Given the description of an element on the screen output the (x, y) to click on. 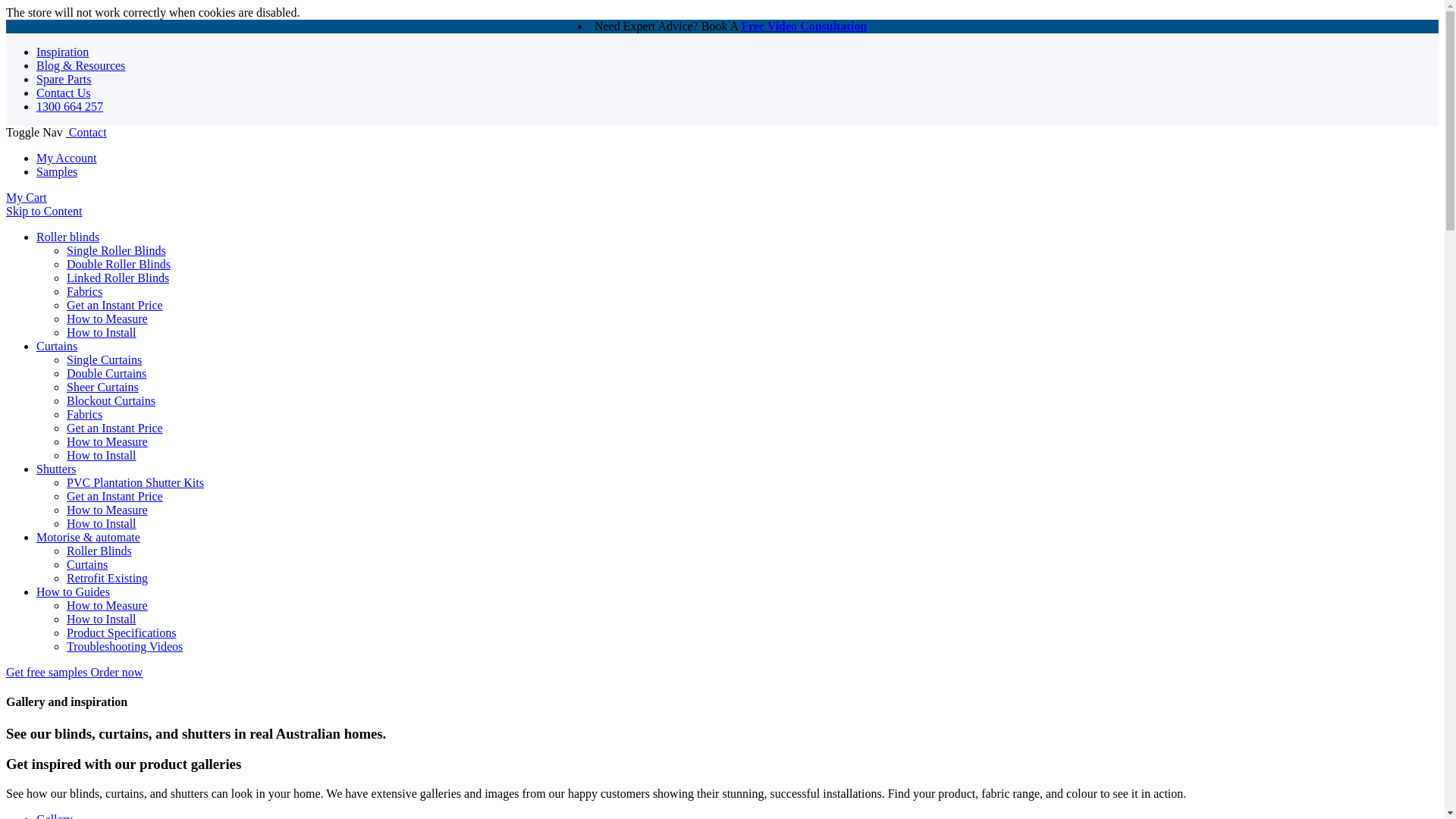
Contact Us (63, 92)
Get an Instant Price (114, 305)
How to Install (101, 332)
Double Curtains (106, 373)
Get an Instant Price (114, 495)
Single Roller Blinds (115, 250)
Samples (56, 171)
Shutters (55, 468)
Blockout Curtains (110, 400)
My Account (66, 157)
